Given the description of an element on the screen output the (x, y) to click on. 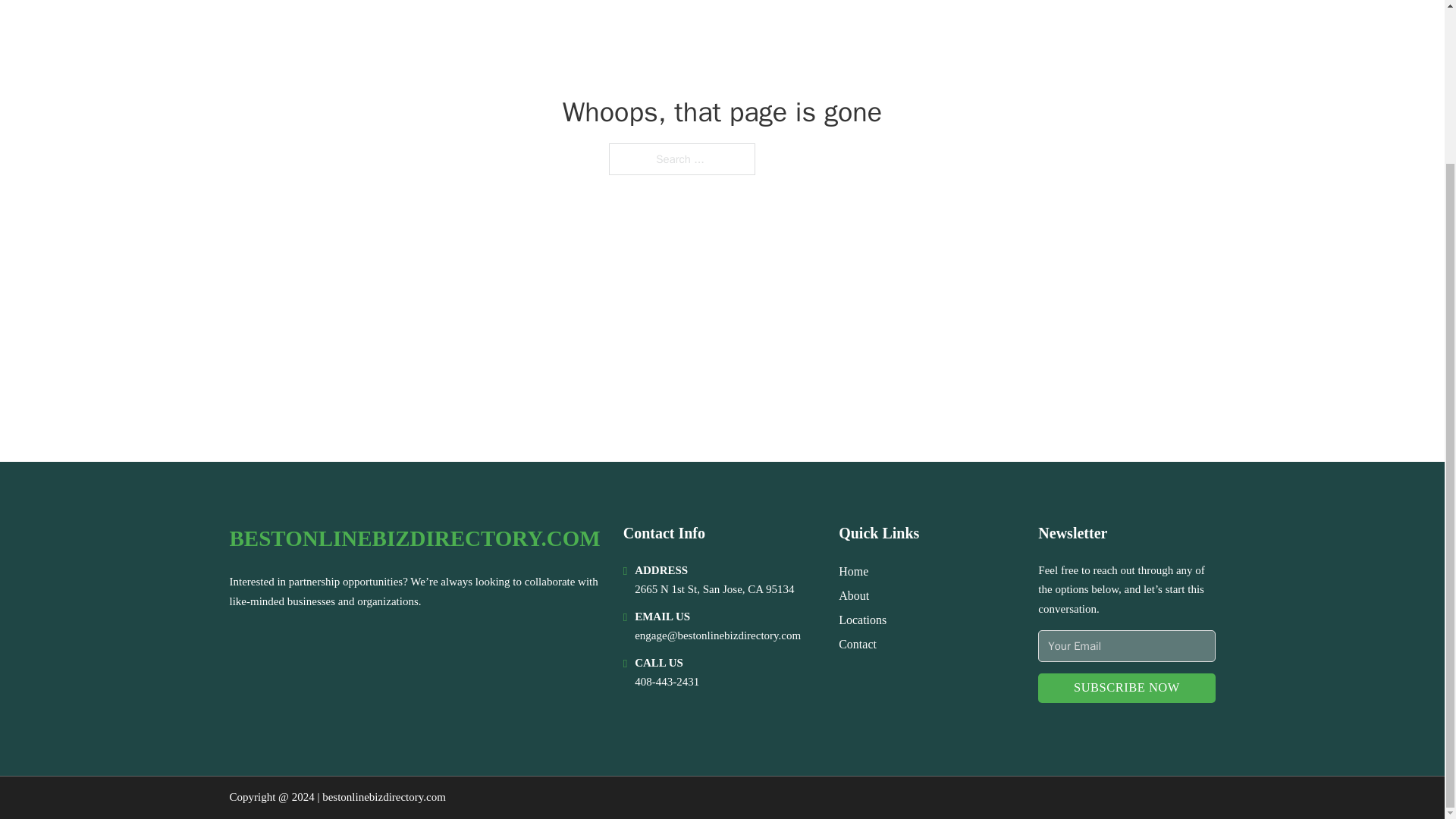
Home (852, 571)
Locations (862, 619)
408-443-2431 (666, 681)
About (853, 595)
Contact (857, 643)
BESTONLINEBIZDIRECTORY.COM (413, 538)
SUBSCRIBE NOW (1126, 687)
